Given the description of an element on the screen output the (x, y) to click on. 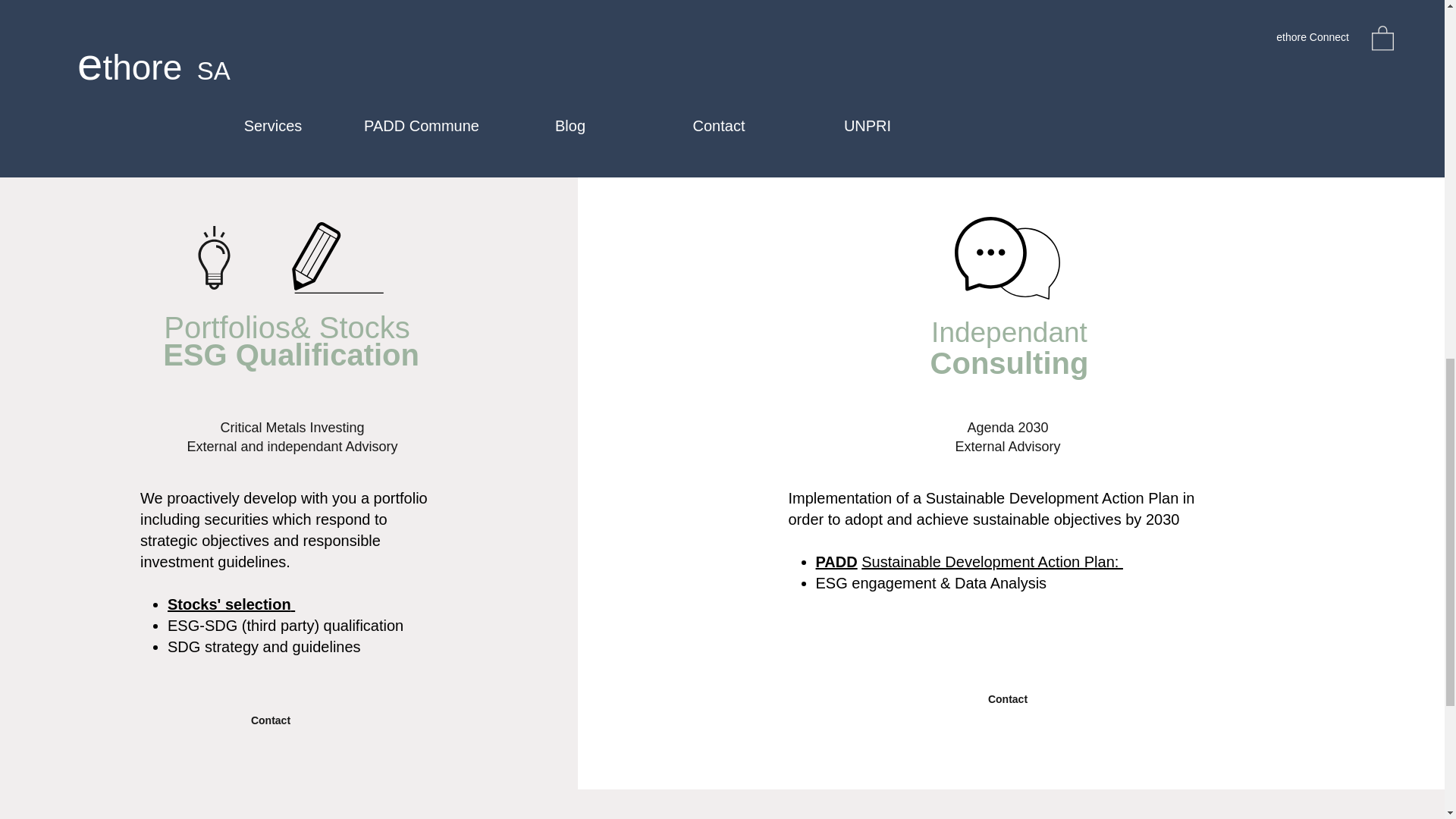
PADD (836, 561)
Book a meeting (536, 85)
Contact (270, 720)
Sustainable Development Action Plan:  (991, 561)
Book a meeting (1262, 85)
Contact (1008, 699)
Stocks' selection  (231, 604)
